Given the description of an element on the screen output the (x, y) to click on. 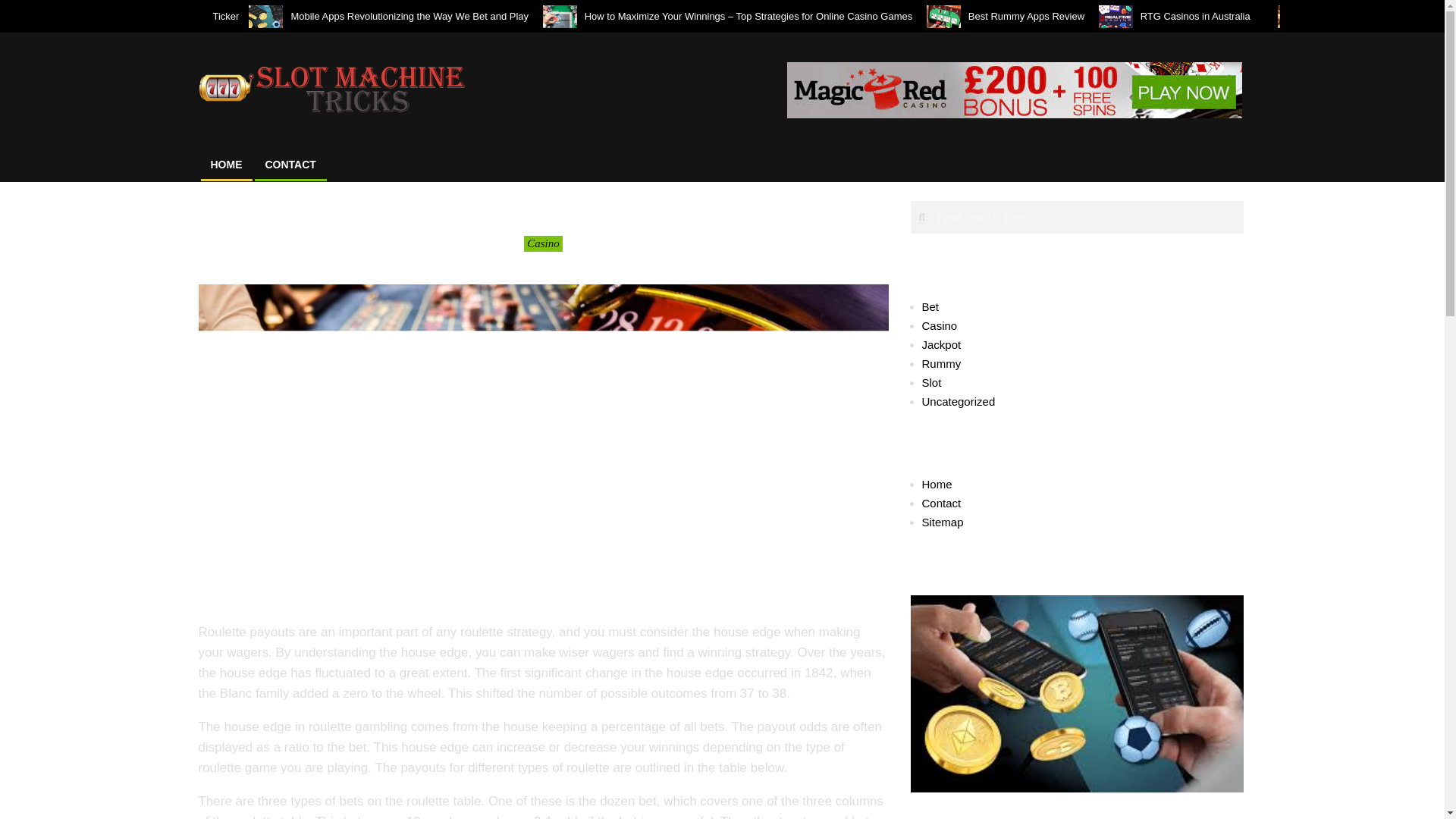
Best Rummy Apps Review (1026, 16)
Casino (543, 243)
HOME (225, 164)
Bet (930, 306)
Jackpot (940, 344)
CONTACT (289, 164)
RTG Casinos in Australia      (1201, 16)
Rummy (940, 363)
Casino (939, 325)
Mobile Apps Revolutionizing the Way We Bet and Play (408, 16)
